Given the description of an element on the screen output the (x, y) to click on. 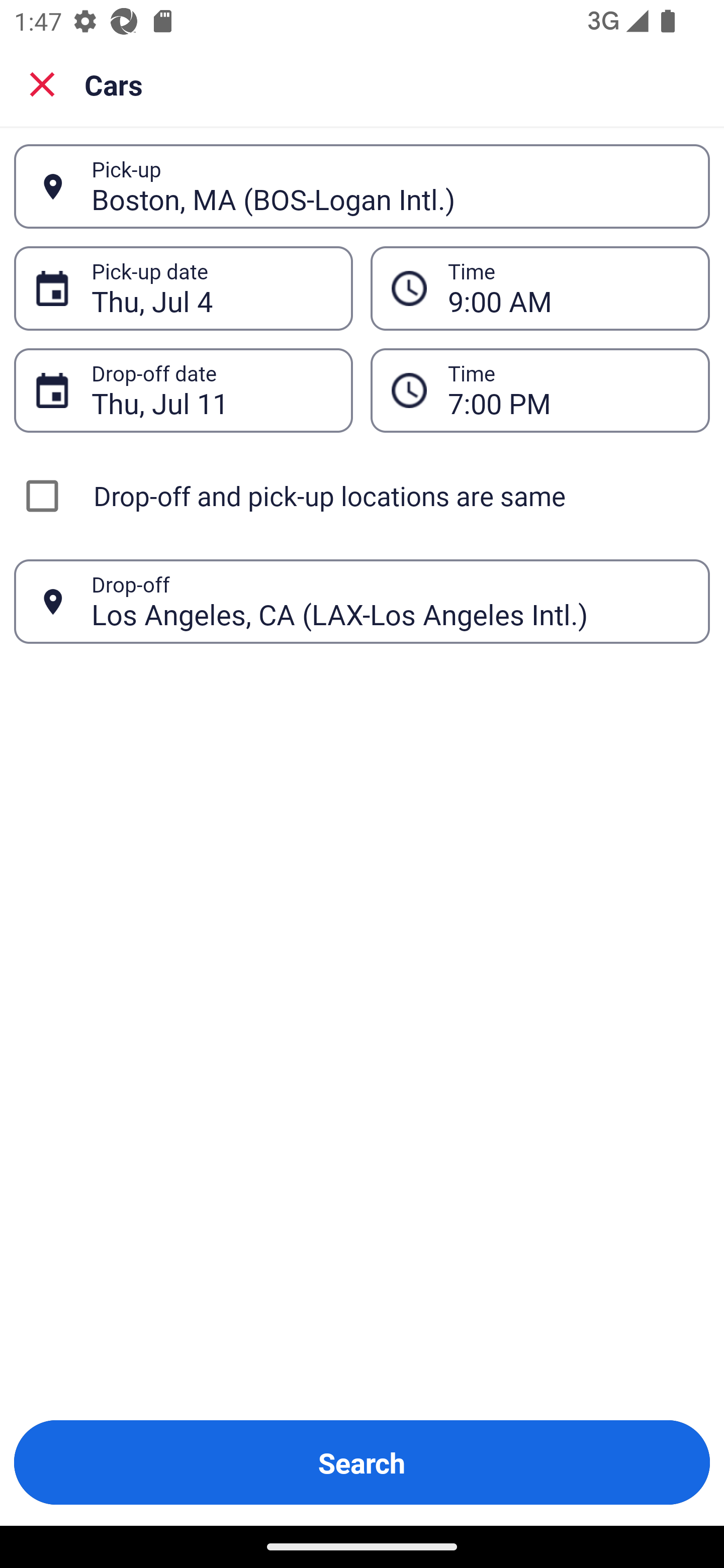
Close search screen (42, 84)
Boston, MA (BOS-Logan Intl.) (389, 186)
Thu, Jul 4 (211, 288)
9:00 AM (568, 288)
Thu, Jul 11 (211, 390)
7:00 PM (568, 390)
Drop-off and pick-up locations are same (361, 495)
Los Angeles, CA (LAX-Los Angeles Intl.) (389, 601)
Search Button Search (361, 1462)
